Given the description of an element on the screen output the (x, y) to click on. 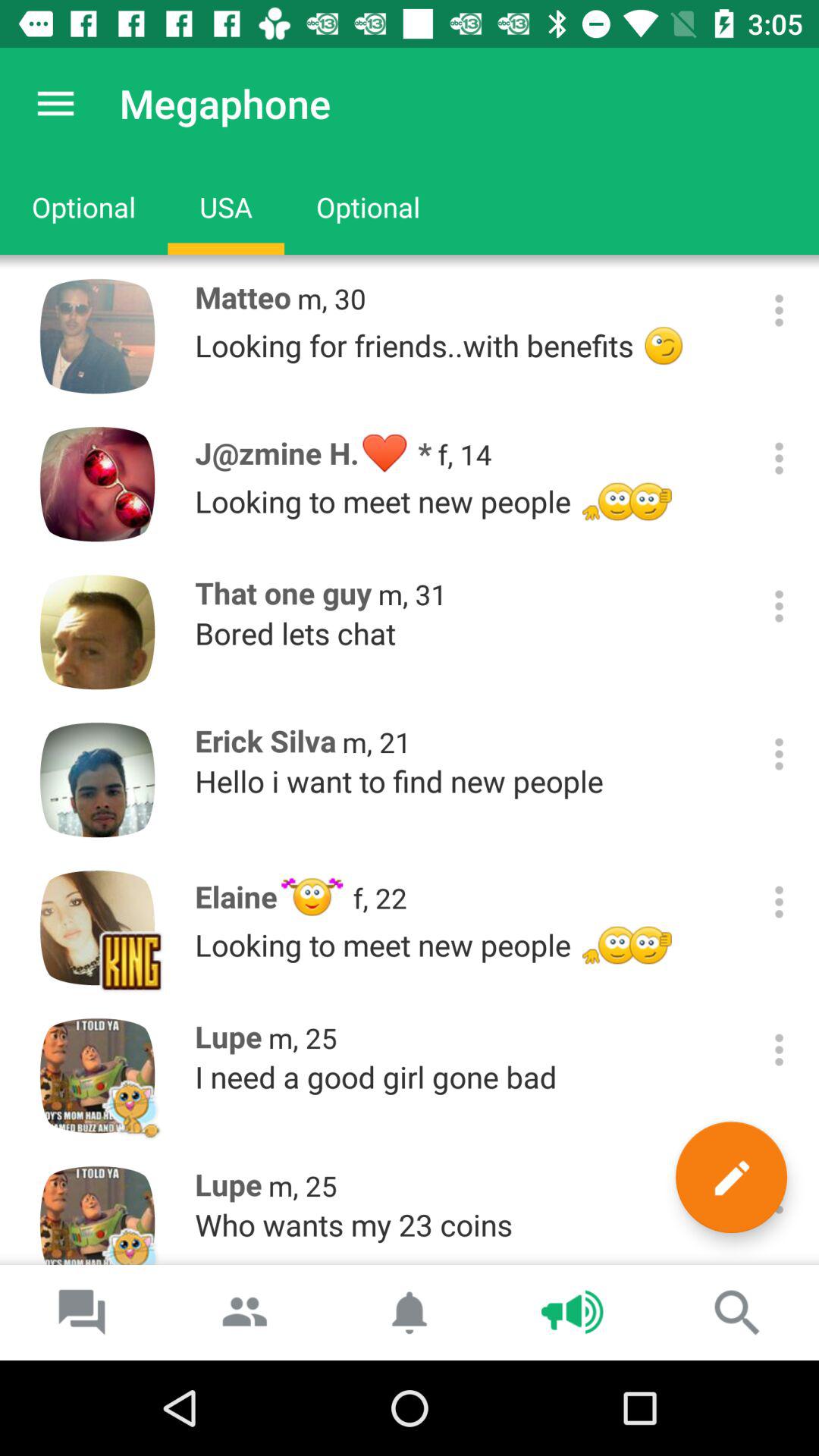
press the icon to the left of megaphone (55, 103)
